Given the description of an element on the screen output the (x, y) to click on. 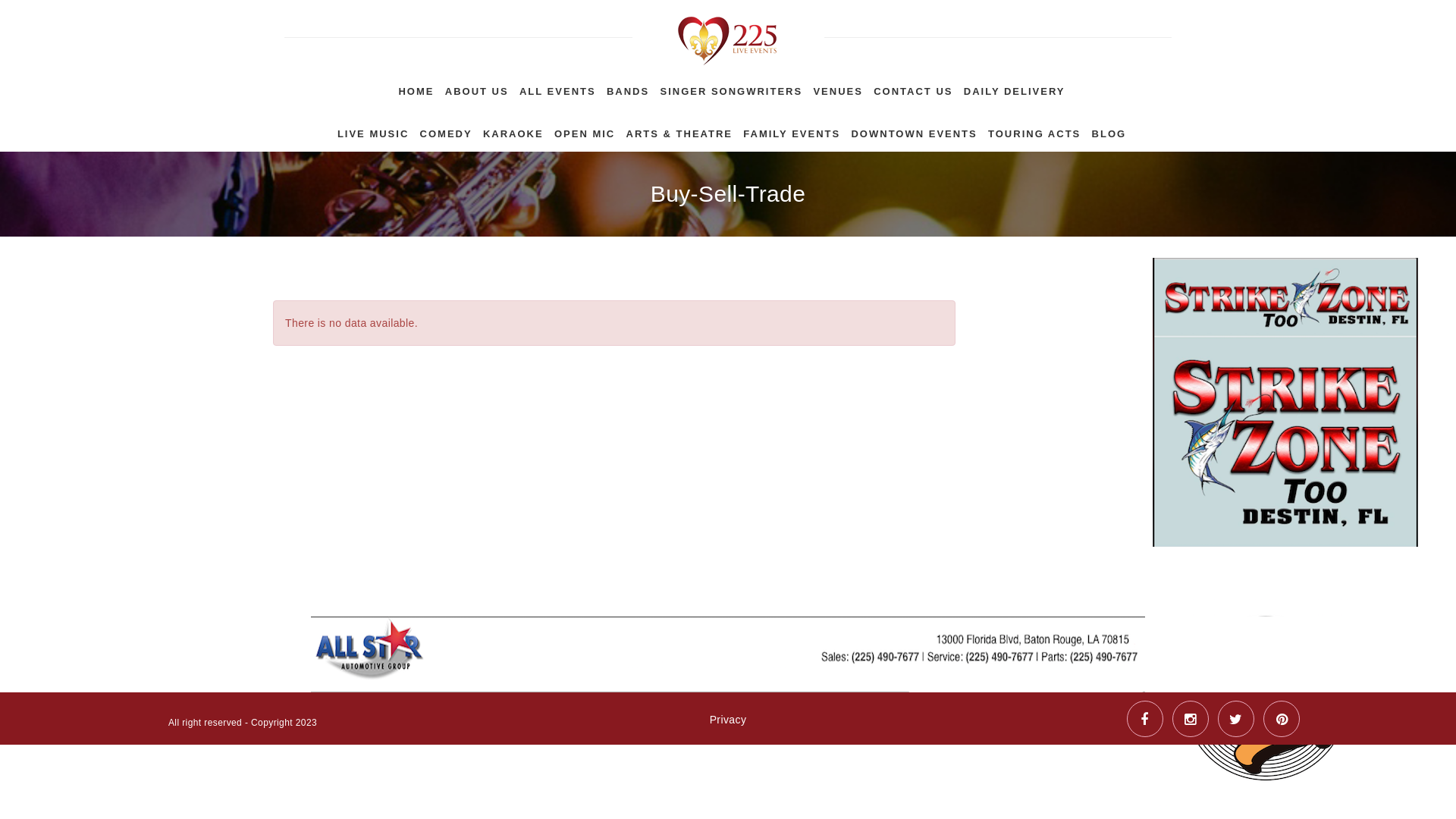
FAMILY EVENTS Element type: text (791, 129)
HOME Element type: text (415, 86)
ABOUT US Element type: text (476, 86)
BLOG Element type: text (1109, 129)
LIVE MUSIC Element type: text (372, 129)
ALL EVENTS Element type: text (557, 86)
KARAOKE Element type: text (513, 129)
Privacy Element type: text (727, 767)
OPEN MIC Element type: text (584, 129)
SINGER SONGWRITERS Element type: text (730, 86)
DAILY DELIVERY Element type: text (1014, 86)
DOWNTOWN EVENTS Element type: text (913, 129)
ARTS & THEATRE Element type: text (679, 129)
COMEDY Element type: text (446, 129)
TOURING ACTS Element type: text (1034, 129)
VENUES Element type: text (837, 86)
CONTACT US Element type: text (912, 86)
BANDS Element type: text (627, 86)
Everline Element type: hover (728, 32)
